Given the description of an element on the screen output the (x, y) to click on. 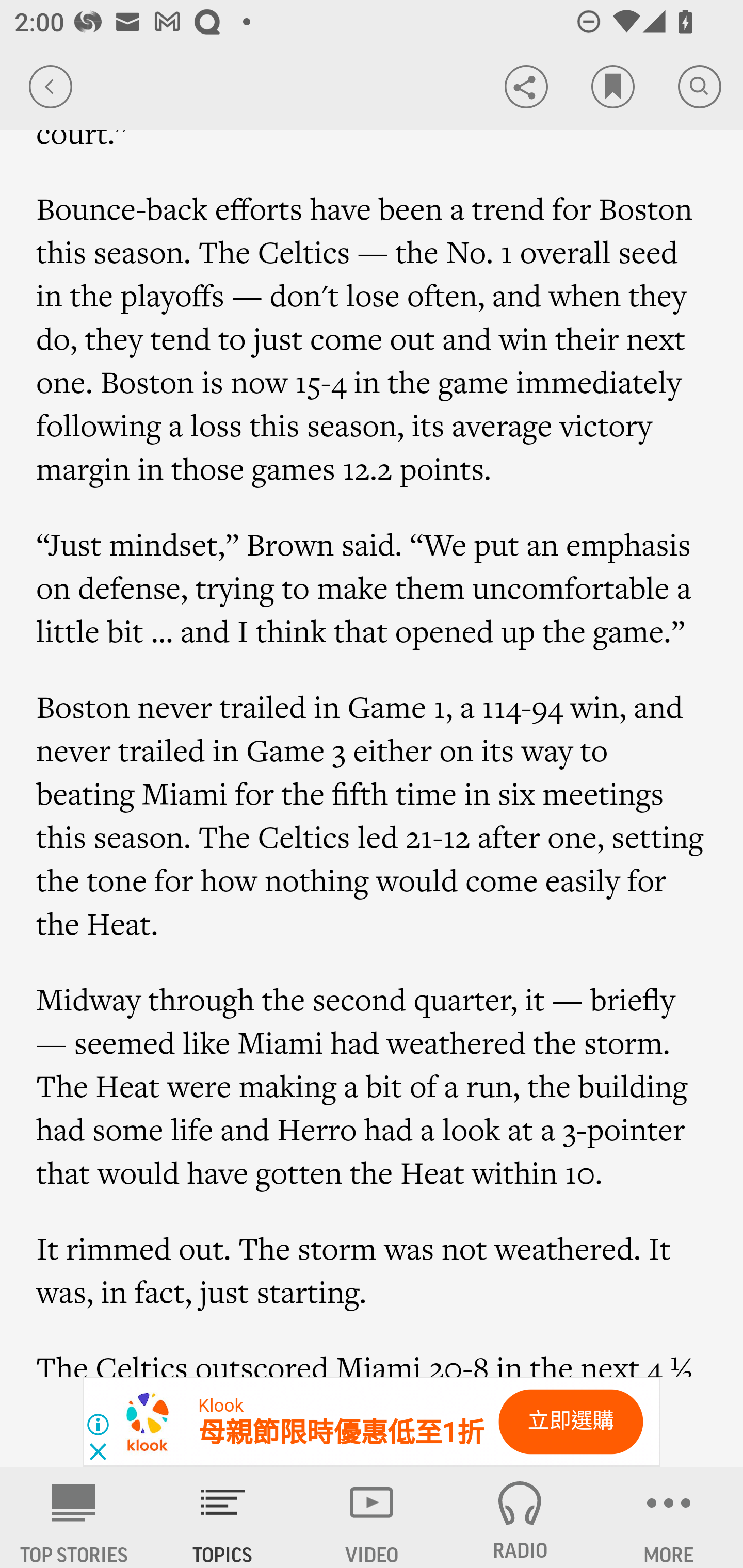
立即選購 Klook 母親節限時優惠低至1折 立即選購 Klook 母親節限時優惠低至1折 (371, 1421)
AP News TOP STORIES (74, 1517)
TOPICS (222, 1517)
VIDEO (371, 1517)
RADIO (519, 1517)
MORE (668, 1517)
